Given the description of an element on the screen output the (x, y) to click on. 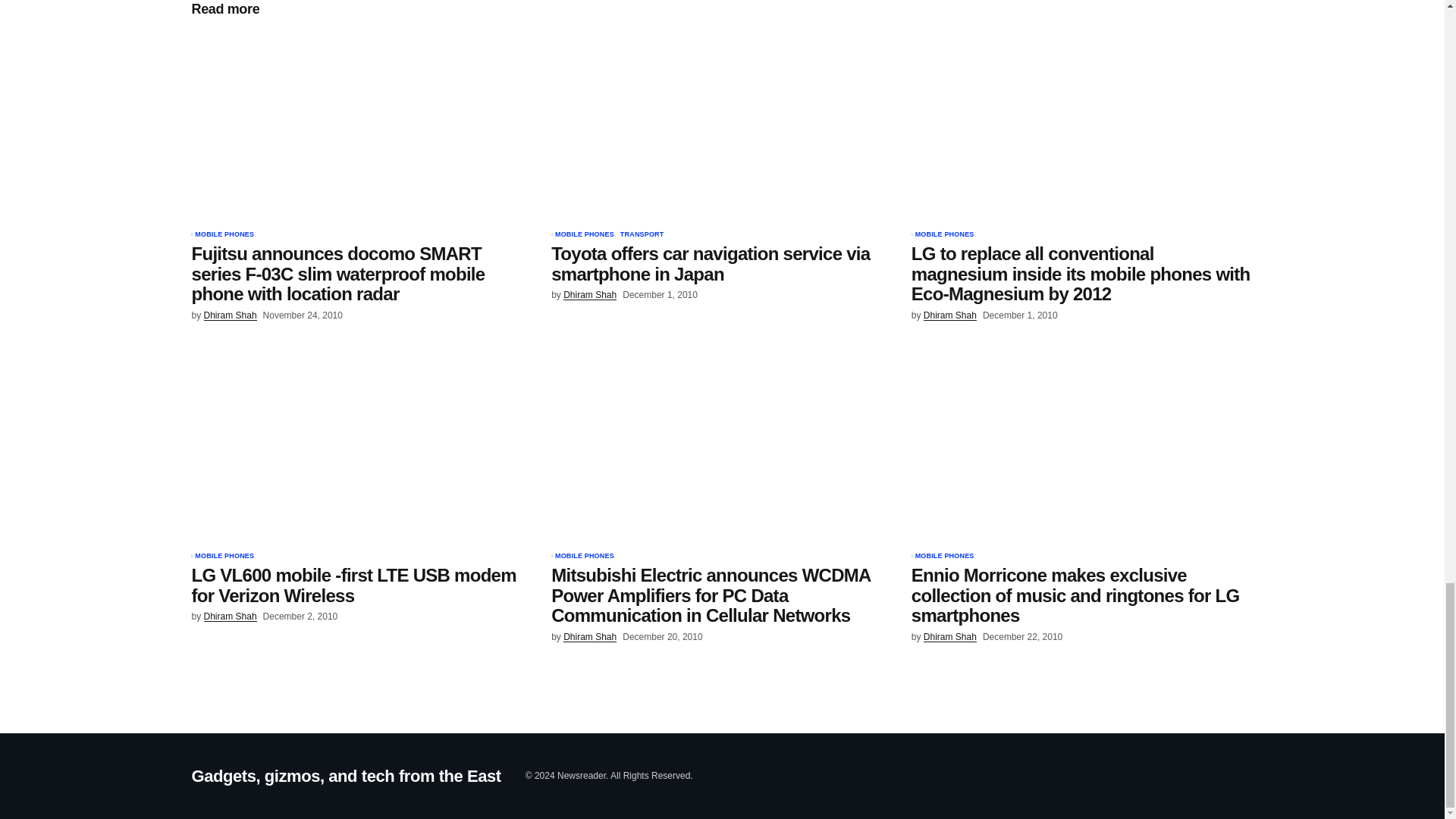
MOBILE PHONES (584, 234)
Dhiram Shah (589, 295)
MOBILE PHONES (944, 556)
Dhiram Shah (230, 616)
LG VL600 mobile -first LTE USB modem for Verizon Wireless (361, 585)
MOBILE PHONES (224, 556)
Toyota offers car navigation service via smartphone in Japan (722, 125)
